Given the description of an element on the screen output the (x, y) to click on. 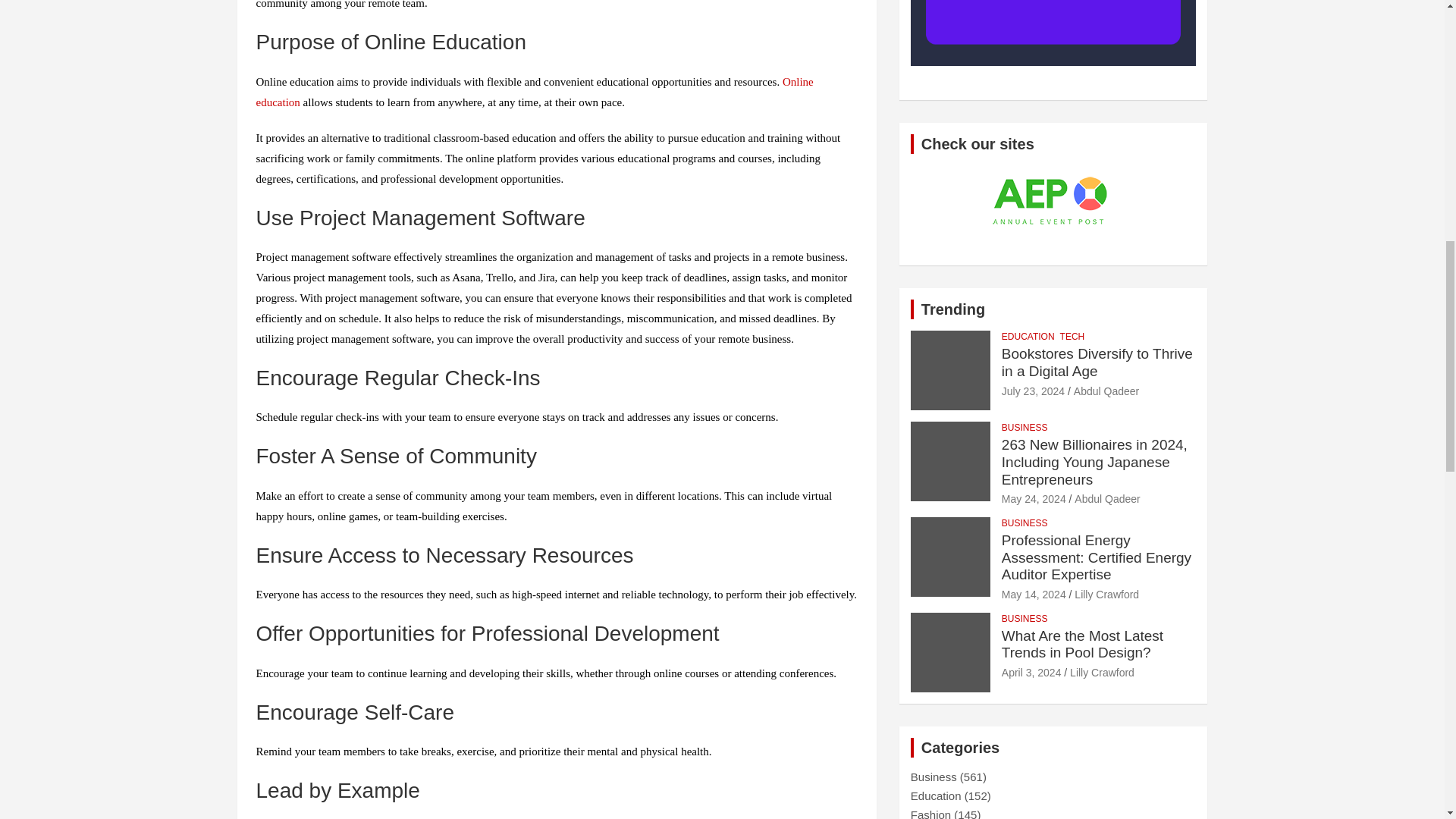
Online education (534, 92)
Bookstores Diversify to Thrive in a Digital Age (1032, 390)
What Are the Most Latest Trends in Pool Design? (1031, 672)
